Given the description of an element on the screen output the (x, y) to click on. 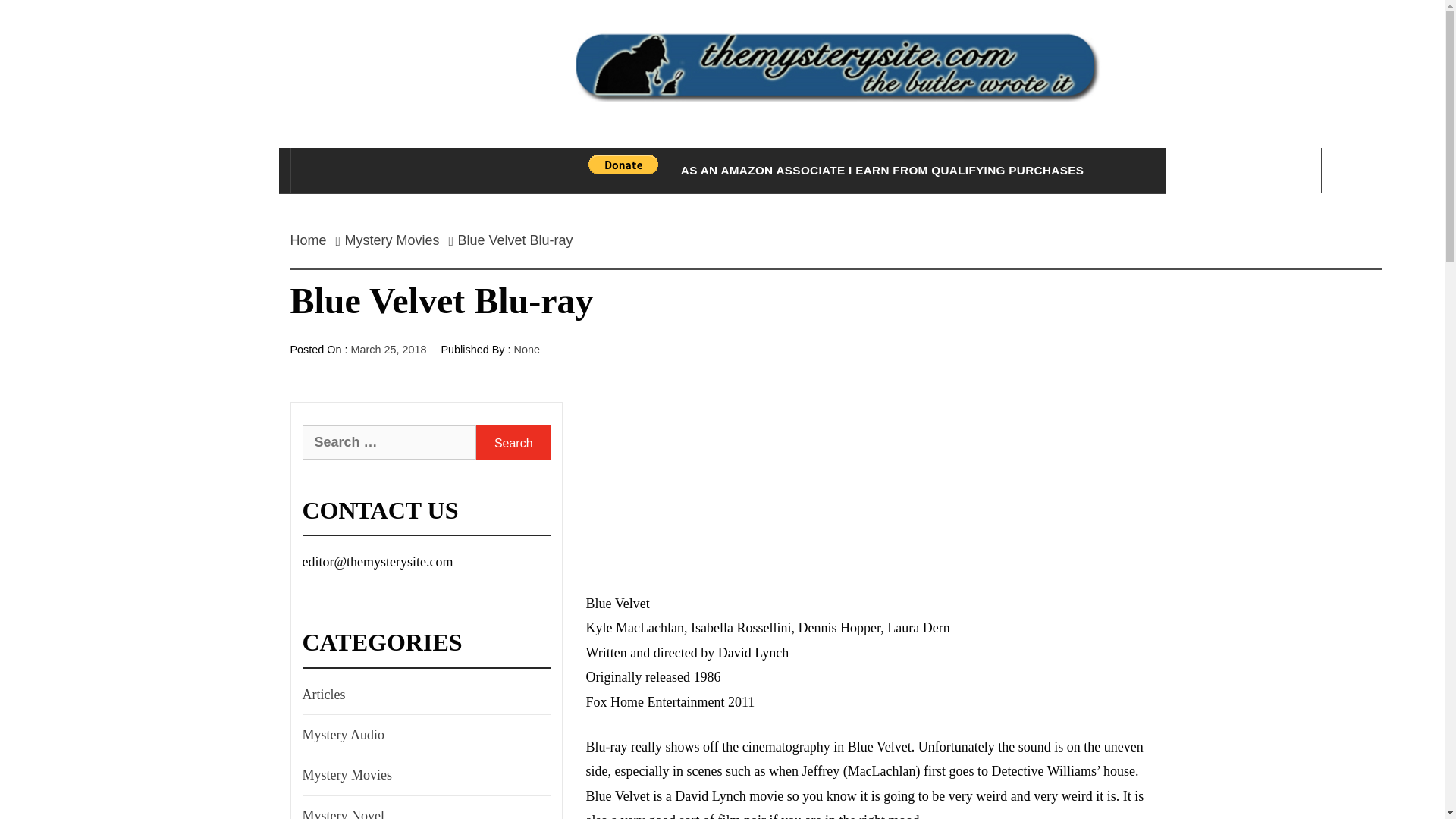
March 25, 2018 (388, 349)
AS AN AMAZON ASSOCIATE I EARN FROM QUALIFYING PURCHASES (881, 170)
Mystery Novel (341, 811)
PayPal - The safer, easier way to pay online! (623, 164)
Mystery Movies (345, 774)
THE MYSTERY SITE (835, 166)
Search (513, 442)
Search (797, 37)
Search (513, 442)
Search (513, 442)
